Given the description of an element on the screen output the (x, y) to click on. 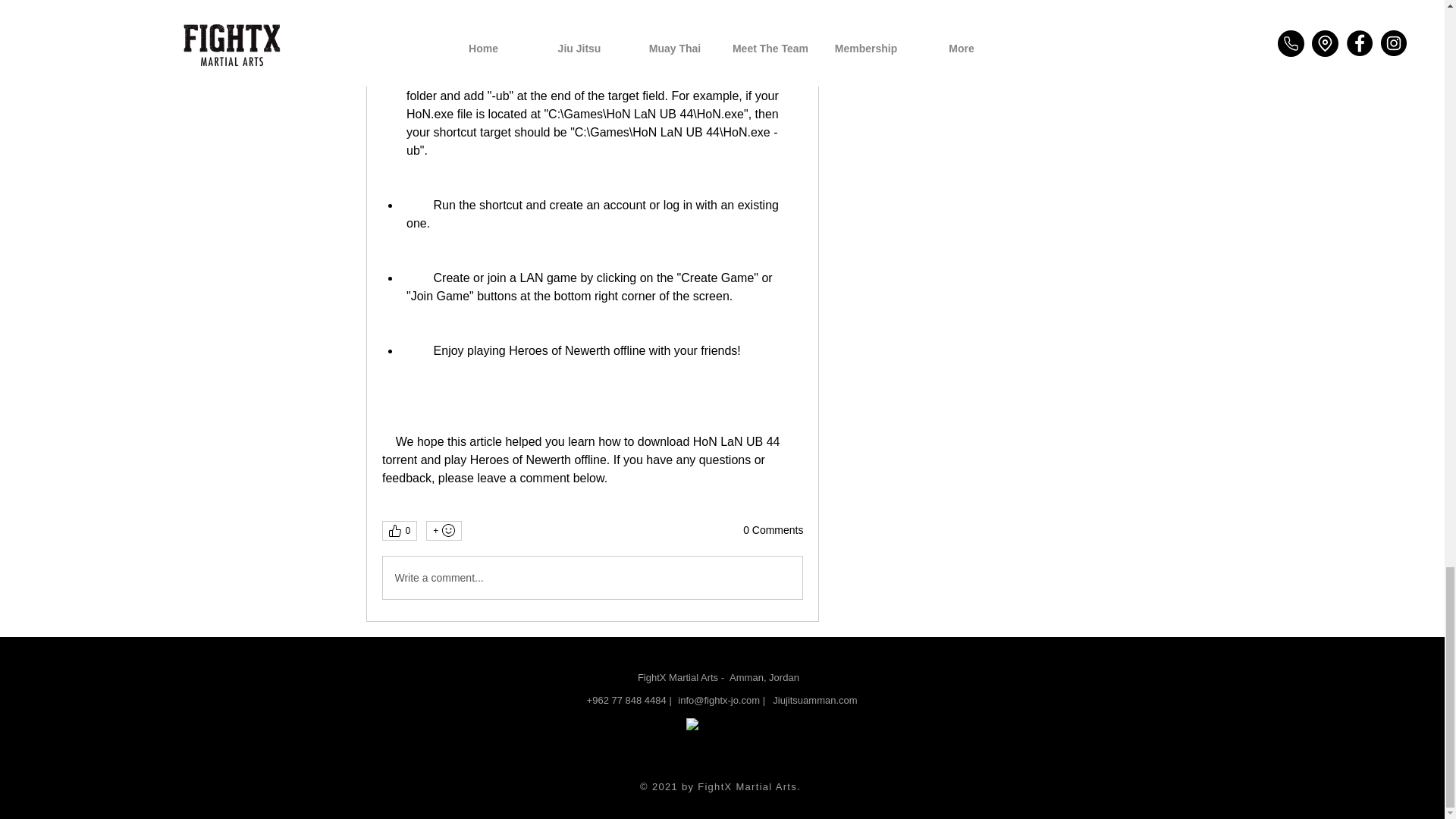
Write a comment... (591, 577)
0 Comments (772, 530)
